Given the description of an element on the screen output the (x, y) to click on. 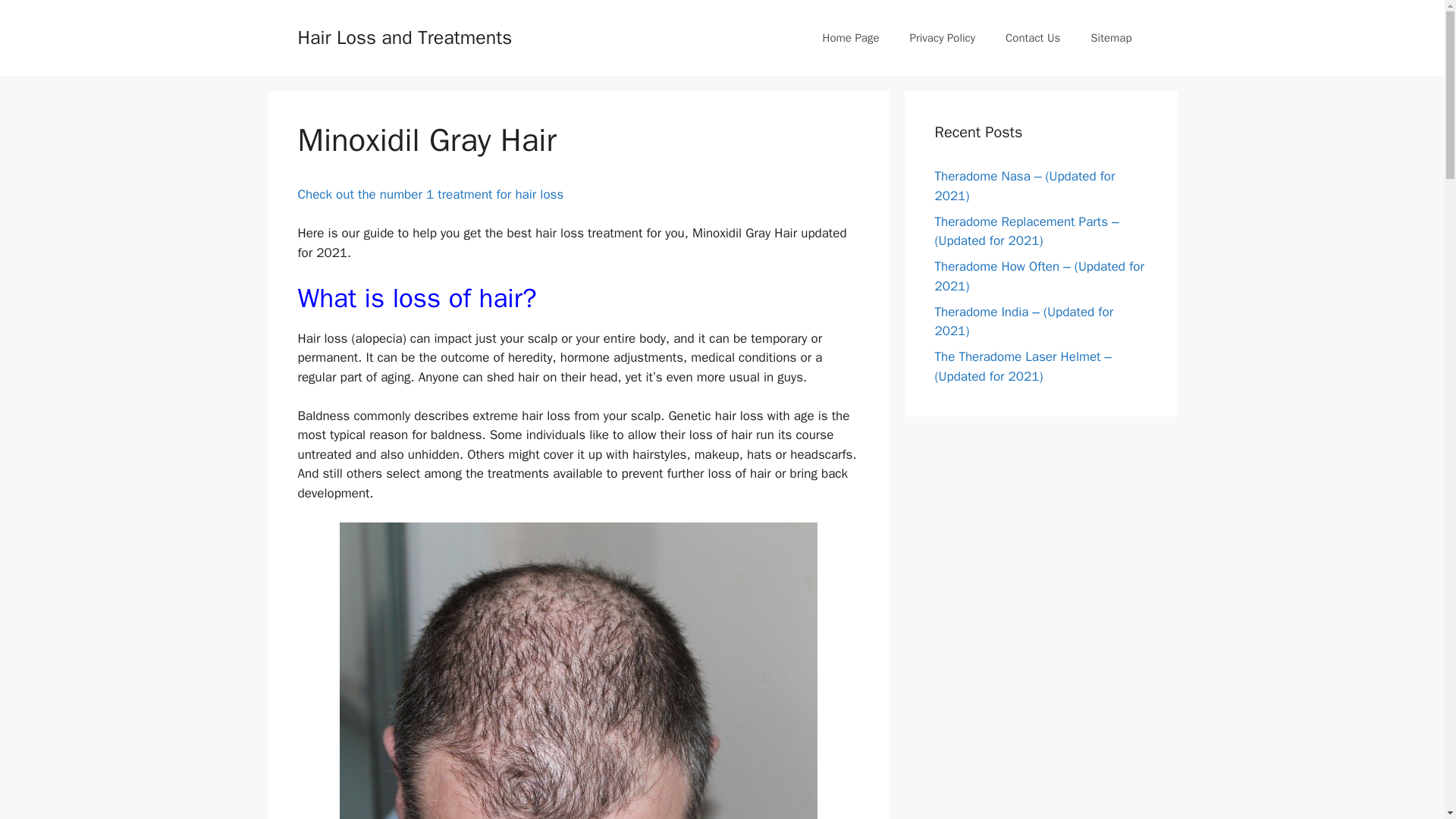
Hair Loss and Treatments (404, 37)
Sitemap (1111, 37)
Contact Us (1032, 37)
Home Page (851, 37)
Privacy Policy (941, 37)
Check out the number 1 treatment for hair loss (430, 194)
